Given the description of an element on the screen output the (x, y) to click on. 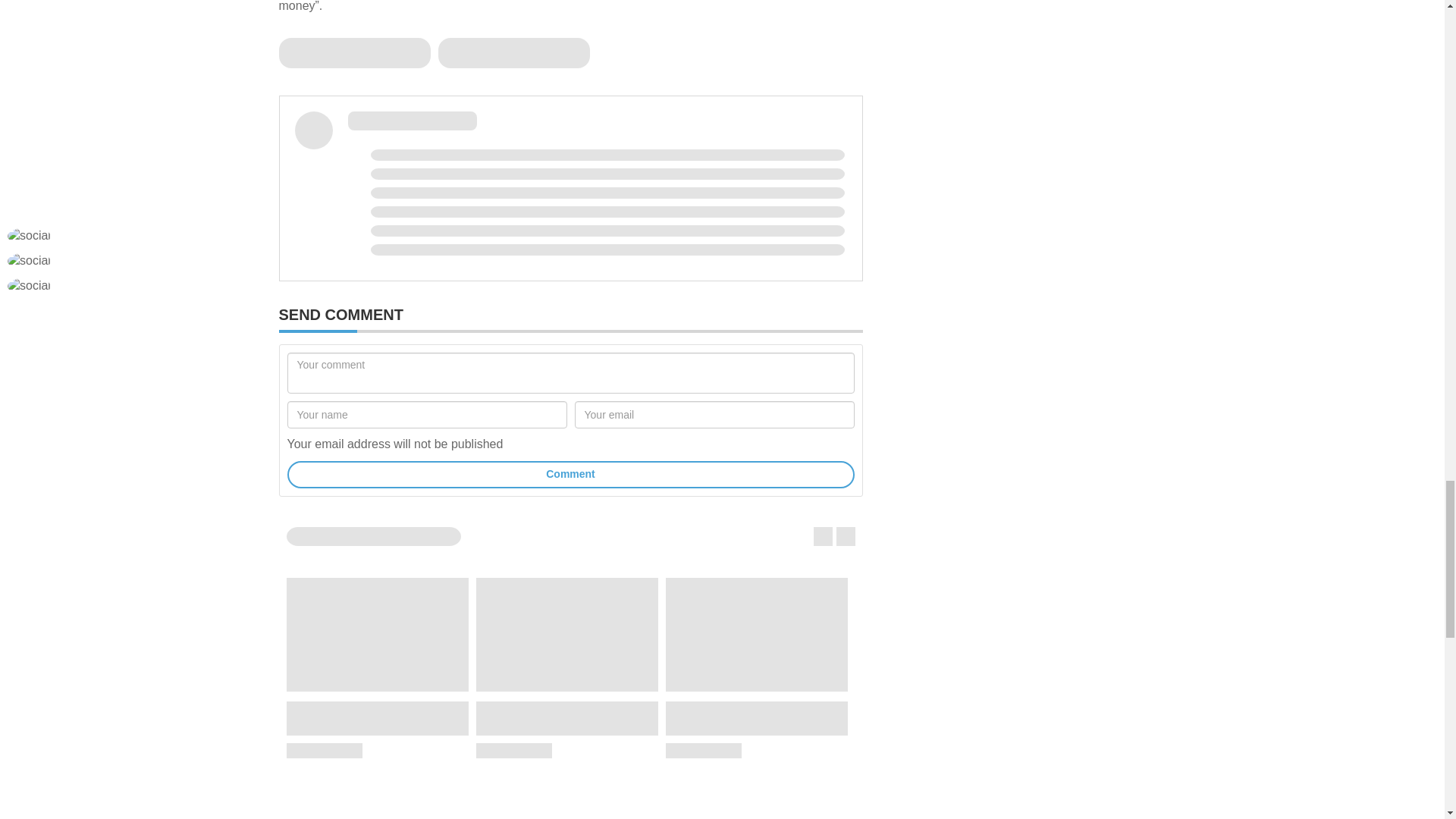
Loading... (513, 52)
Comment (569, 474)
Loading... (569, 185)
Loading... (354, 52)
